Given the description of an element on the screen output the (x, y) to click on. 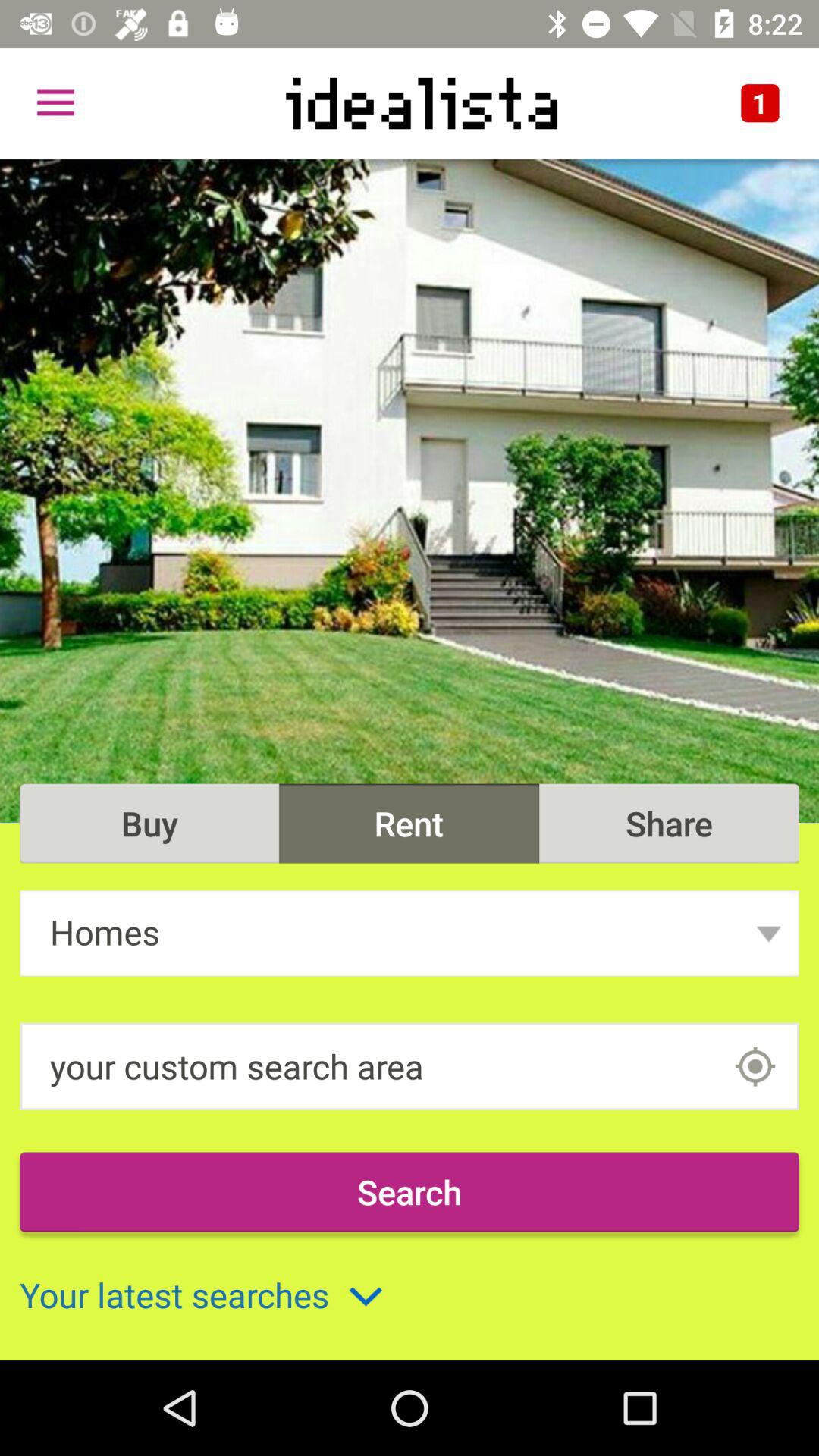
current location icon (755, 1066)
